Given the description of an element on the screen output the (x, y) to click on. 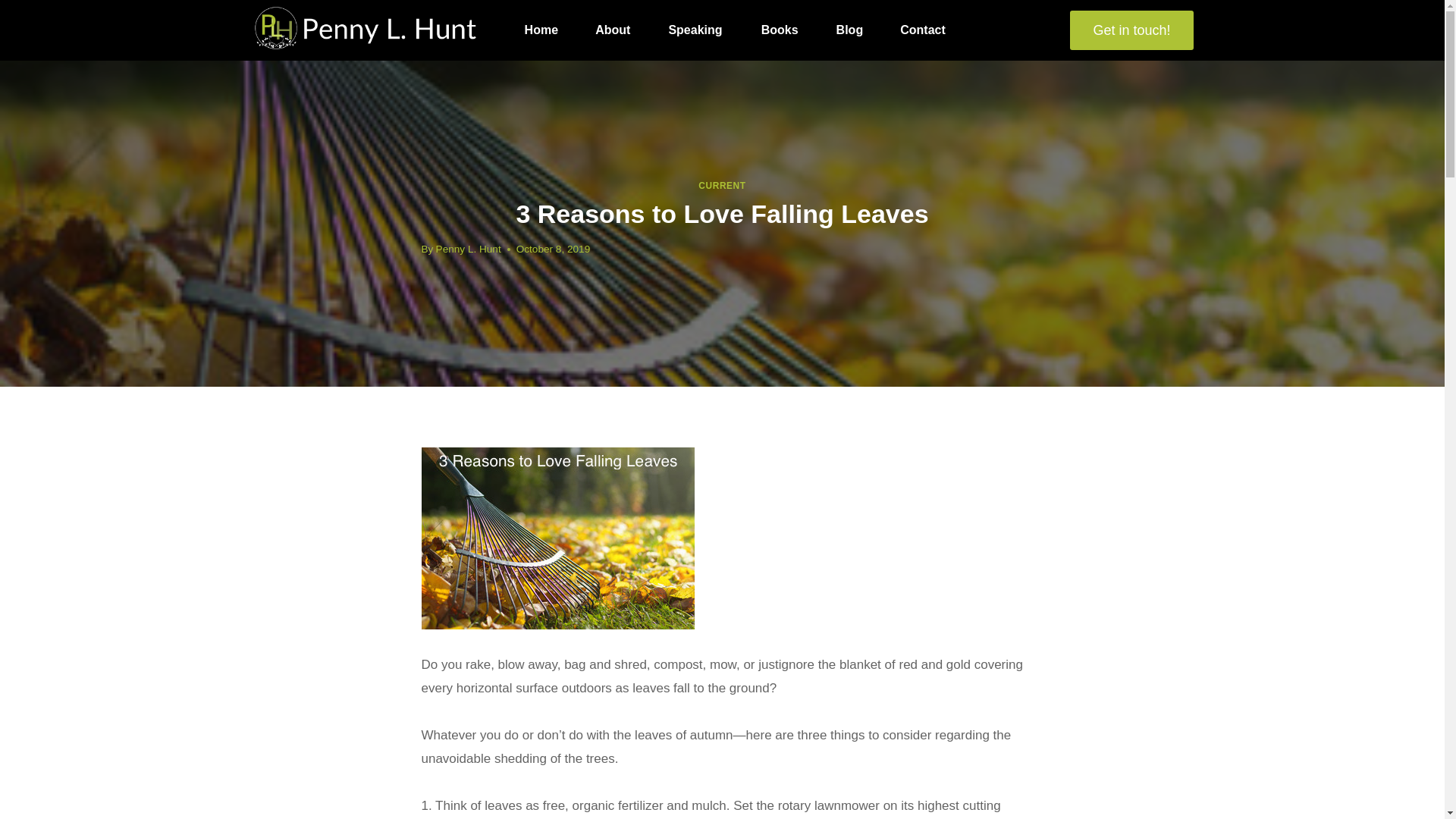
About (612, 29)
Speaking (695, 29)
Penny L. Hunt (467, 248)
Blog (849, 29)
Get in touch! (1131, 30)
Contact (923, 29)
Books (779, 29)
CURRENT (721, 185)
Home (541, 29)
